Given the description of an element on the screen output the (x, y) to click on. 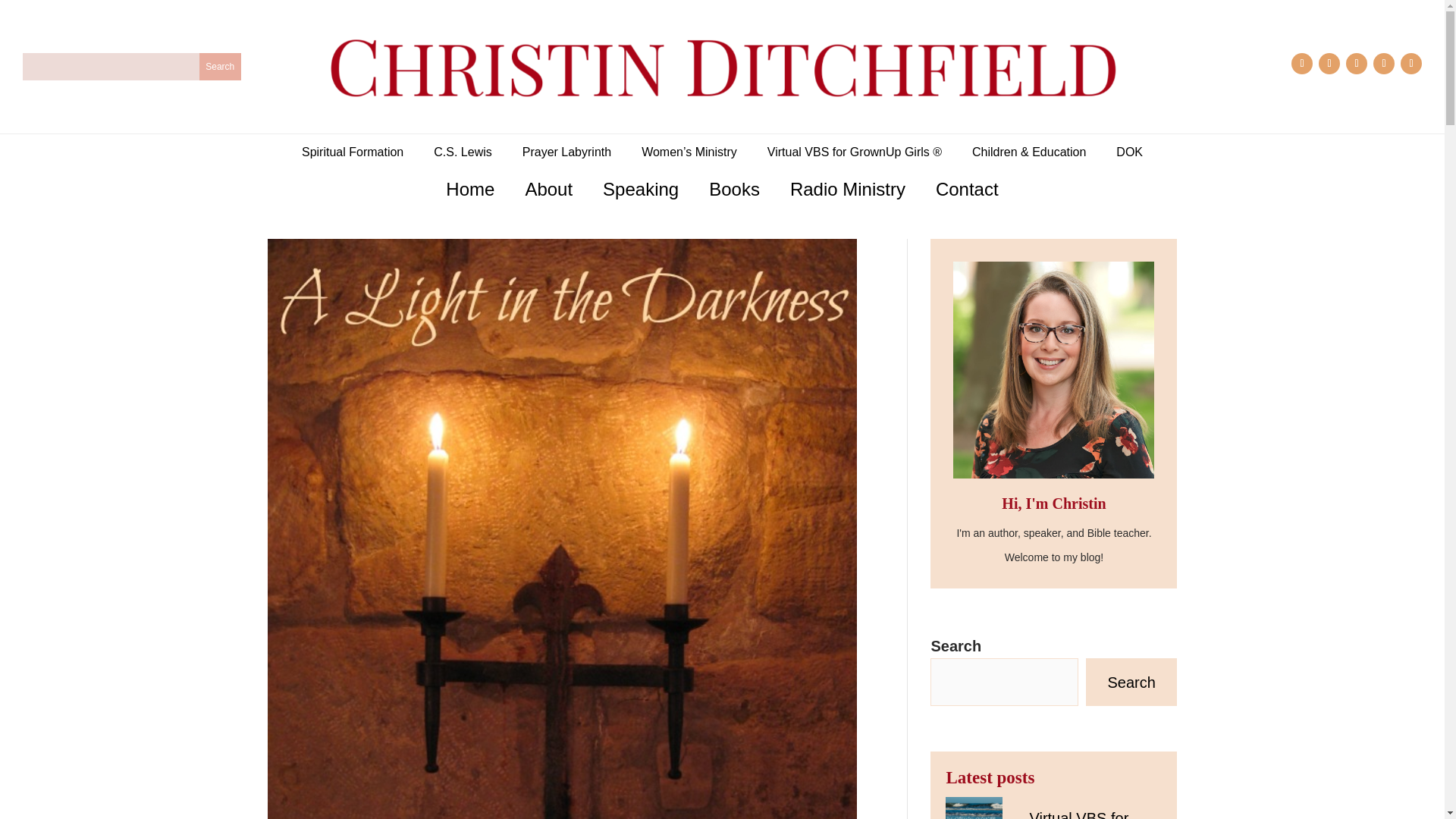
Radio Ministry (847, 188)
Follow on X (1383, 63)
Contact (967, 188)
Home (470, 188)
About (548, 188)
Follow on Pinterest (1356, 63)
Christin Ditchfield Logo (721, 66)
Books (734, 188)
Search (220, 66)
Prayer Labyrinth (566, 151)
Follow on Instagram (1329, 63)
Speaking (640, 188)
C.S. Lewis (462, 151)
Search (1131, 681)
